Given the description of an element on the screen output the (x, y) to click on. 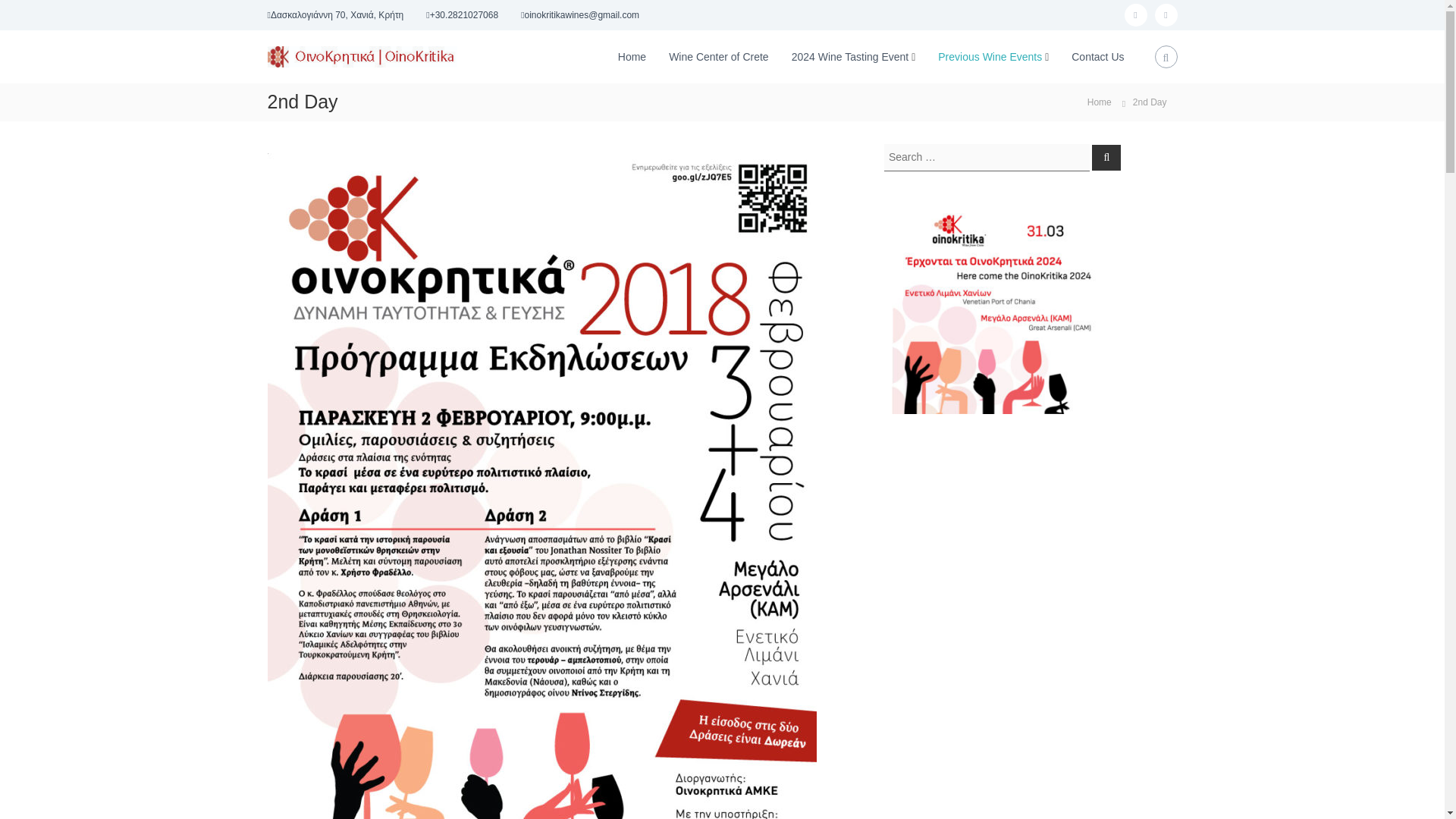
Previous Wine Events (989, 55)
2024 Wine Tasting Event (850, 55)
Contact Us (1097, 55)
Wine Center of Crete (718, 55)
Home (631, 55)
Home (1099, 101)
facebook (1135, 15)
instagram (1165, 15)
Search (1106, 156)
Home (1099, 101)
